Given the description of an element on the screen output the (x, y) to click on. 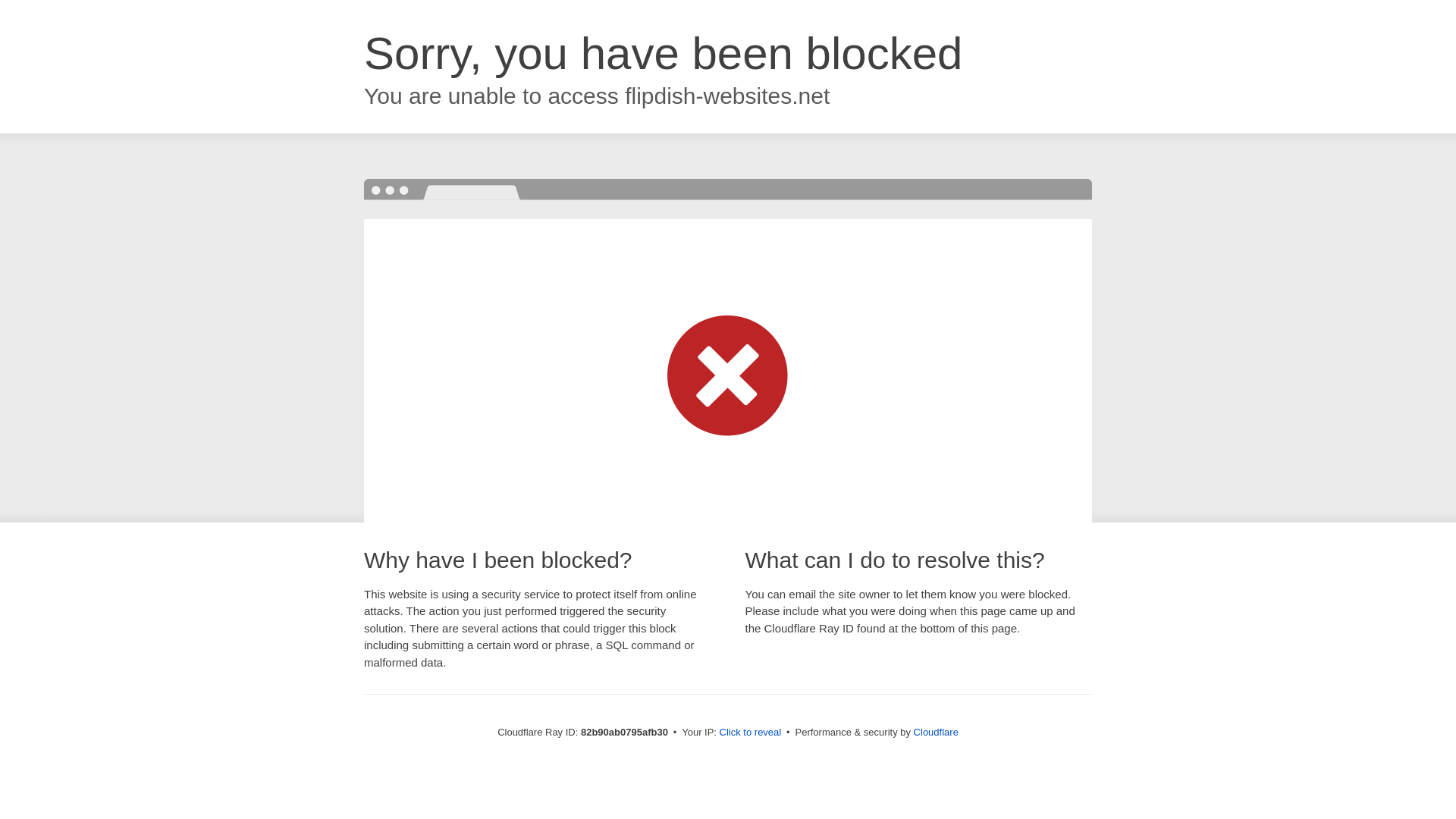
Cloudflare Element type: text (935, 731)
Click to reveal Element type: text (750, 732)
